Given the description of an element on the screen output the (x, y) to click on. 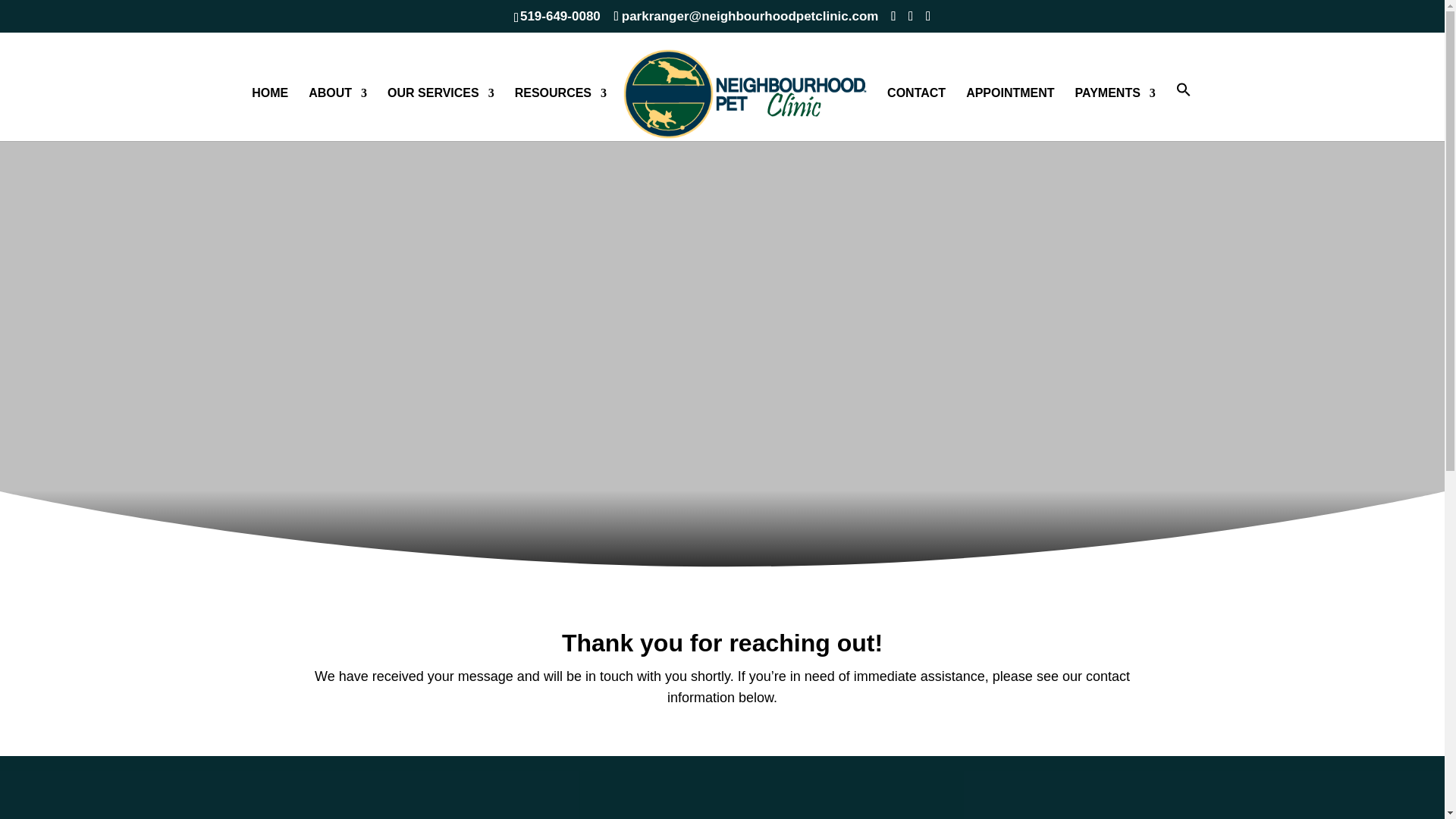
RESOURCES (561, 113)
OUR SERVICES (441, 113)
519-649-0080 (559, 16)
ABOUT (337, 113)
CONTACT (915, 113)
